Given the description of an element on the screen output the (x, y) to click on. 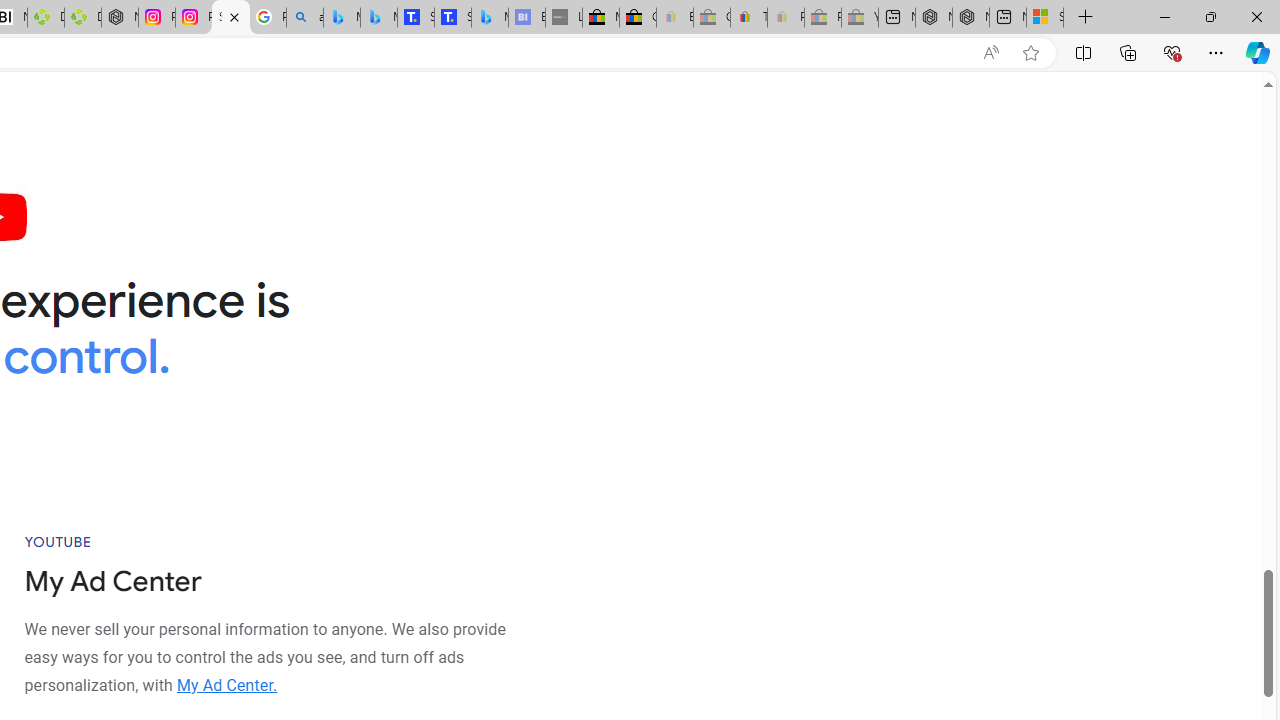
My Ad Center. (226, 684)
alabama high school quarterback dies - Search (304, 17)
